Given the description of an element on the screen output the (x, y) to click on. 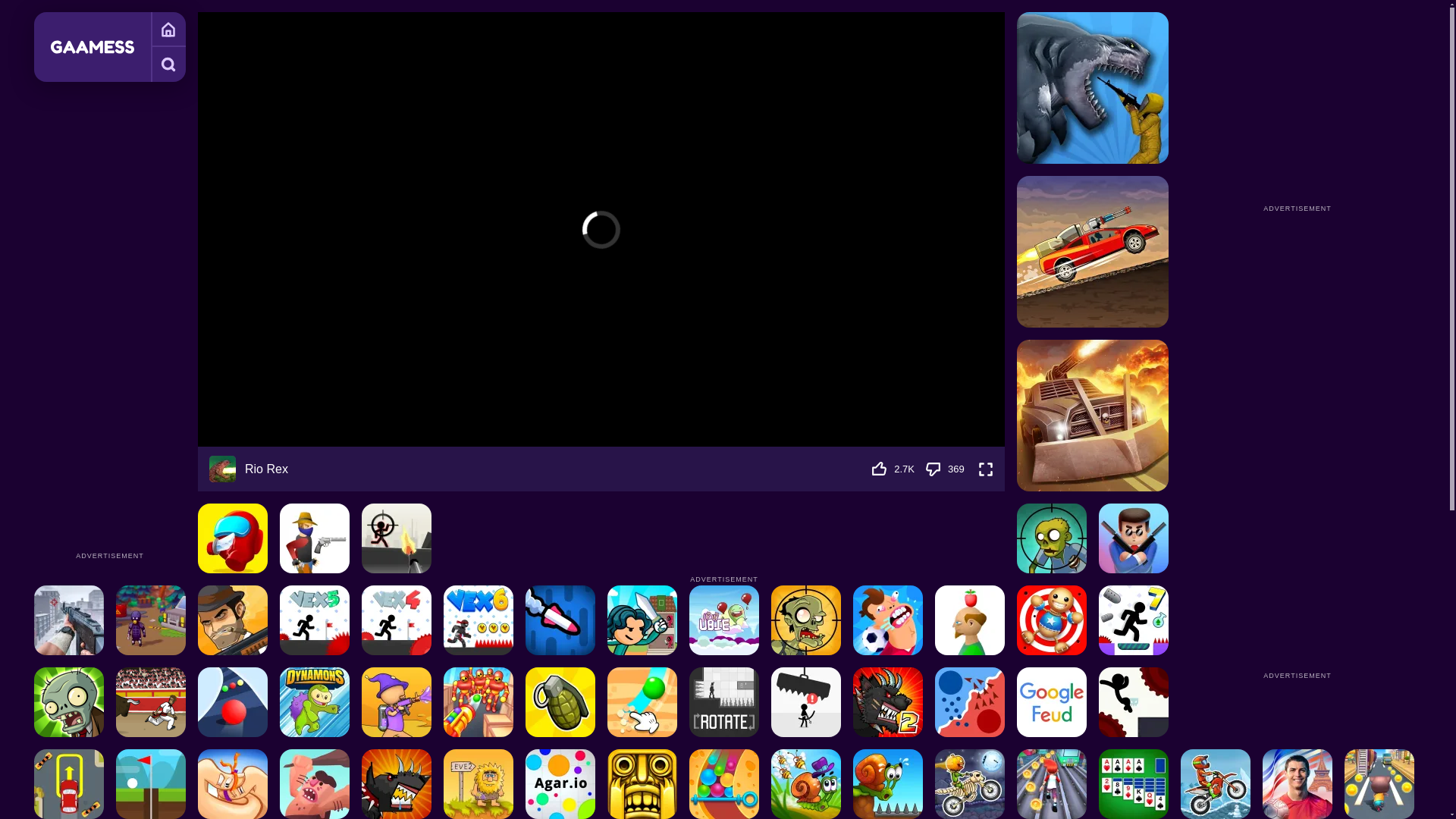
Vex 4 (395, 620)
Rocket Bot Royale (560, 620)
Mr Bullet (1134, 538)
Gun Blood (314, 538)
Stupid Zombies (1051, 538)
Games (168, 29)
Restricted Zone (151, 620)
Free Online Games to Play (168, 29)
Stickman War (395, 538)
Search Games (168, 63)
Dead Zed (68, 620)
Zombie Derby (1092, 415)
Vex 5 (314, 620)
Sharkosaurus Rampage (1092, 87)
